Given the description of an element on the screen output the (x, y) to click on. 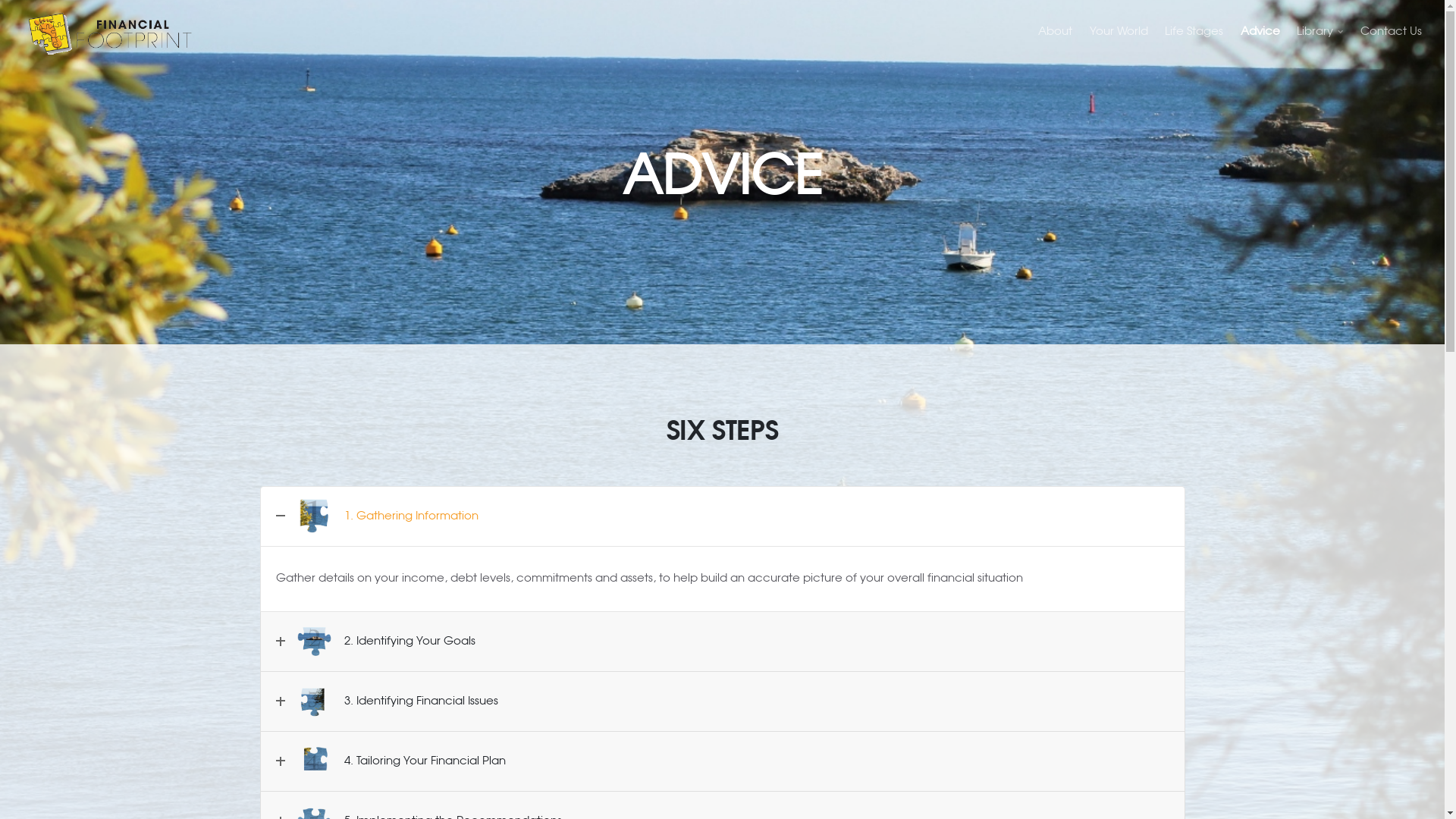
Library Element type: text (1319, 31)
Contact Us Element type: text (1390, 31)
Advice Element type: text (1260, 31)
2. Identifying Your Goals Element type: text (722, 641)
Your World Element type: text (1118, 31)
1. Gathering Information Element type: text (722, 516)
3. Identifying Financial Issues Element type: text (722, 701)
About Element type: text (1055, 31)
Life Stages Element type: text (1193, 31)
4. Tailoring Your Financial Plan Element type: text (722, 760)
